Given the description of an element on the screen output the (x, y) to click on. 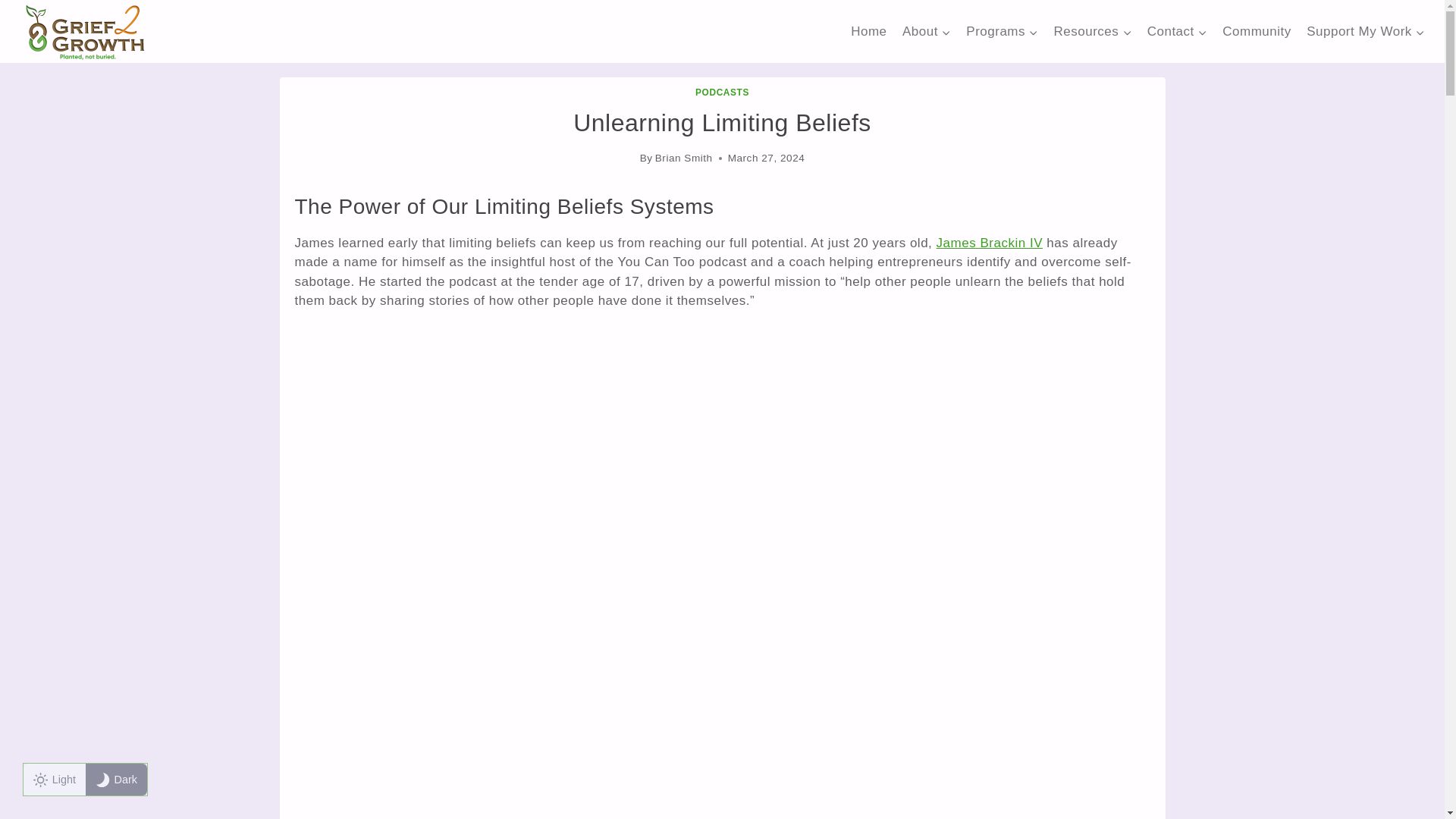
Resources (1091, 31)
Contact (1176, 31)
Community (1256, 31)
Support My Work (1365, 31)
Programs (1001, 31)
Brian Smith (684, 157)
Home (869, 31)
James Brackin IV (989, 242)
PODCASTS (722, 91)
About (926, 31)
